Given the description of an element on the screen output the (x, y) to click on. 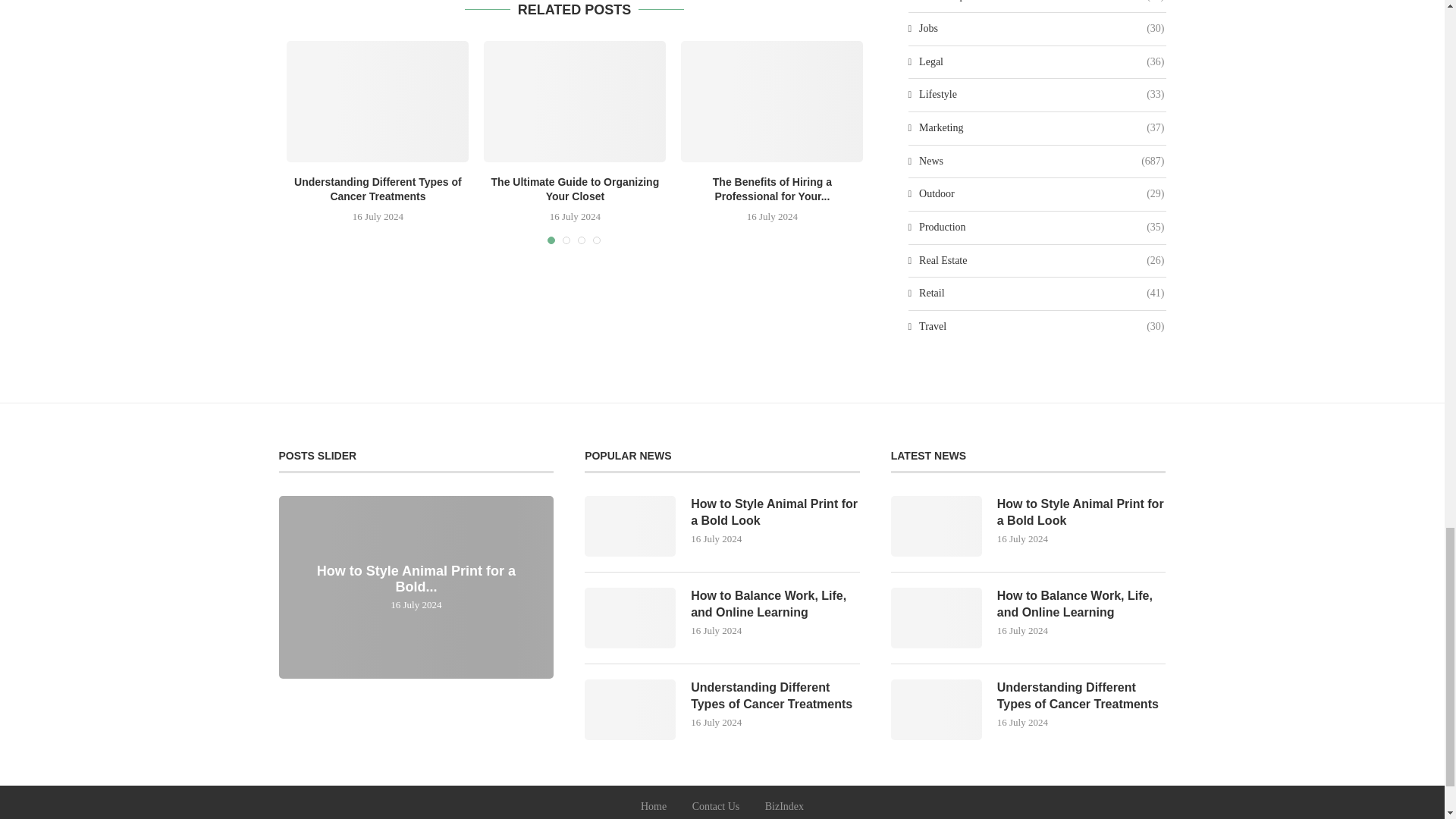
The Ultimate Guide to Organizing Your Closet (574, 101)
Understanding Different Types of Cancer Treatments (377, 101)
